Given the description of an element on the screen output the (x, y) to click on. 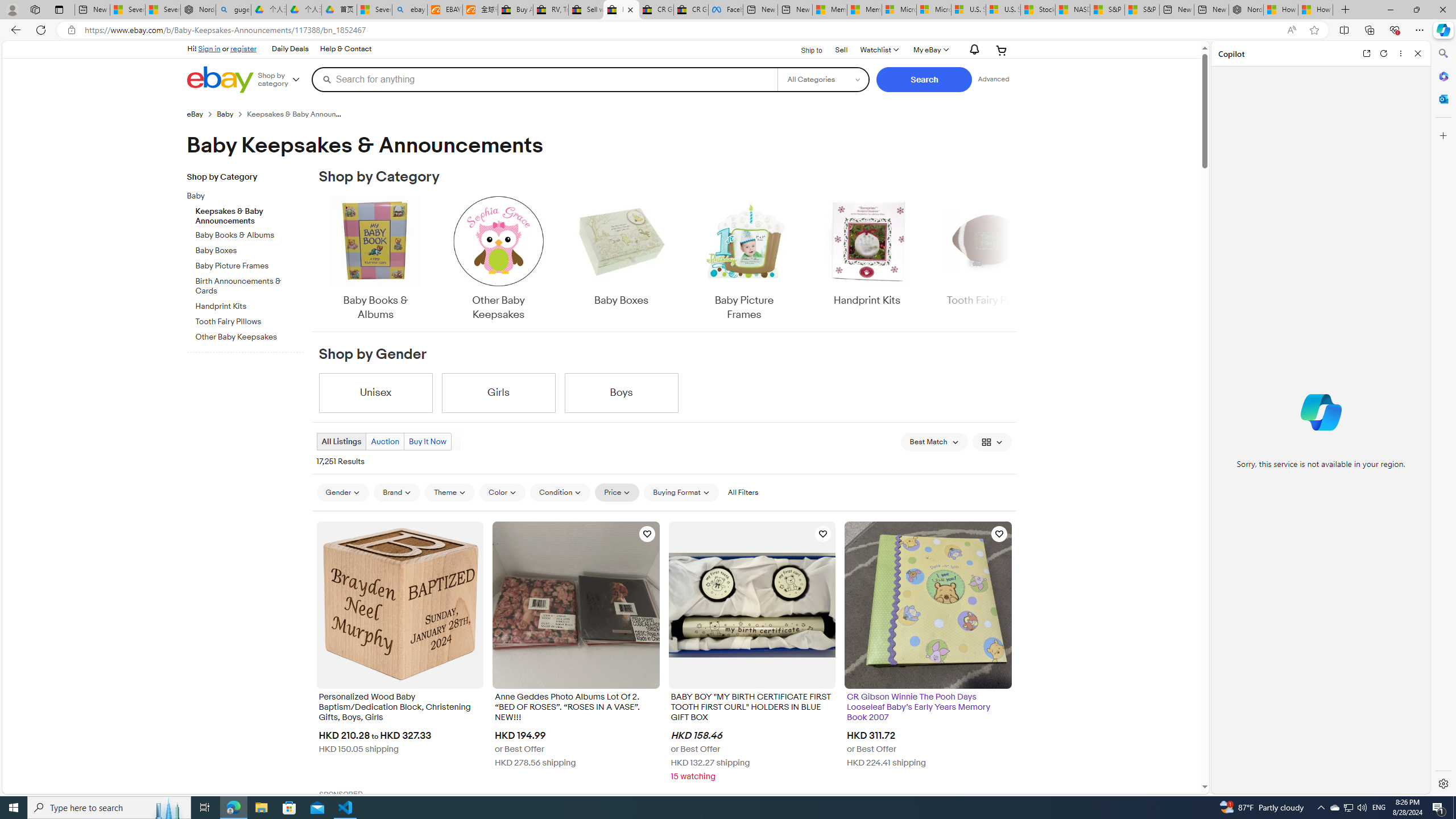
Auction (384, 441)
Advanced Search (993, 78)
Birth Announcements & Cards (249, 283)
Buy Auto Parts & Accessories | eBay (515, 9)
Condition (560, 492)
View: Gallery View (991, 441)
Side bar (1443, 418)
Sign in (209, 48)
Go to previous slide (317, 258)
